Given the description of an element on the screen output the (x, y) to click on. 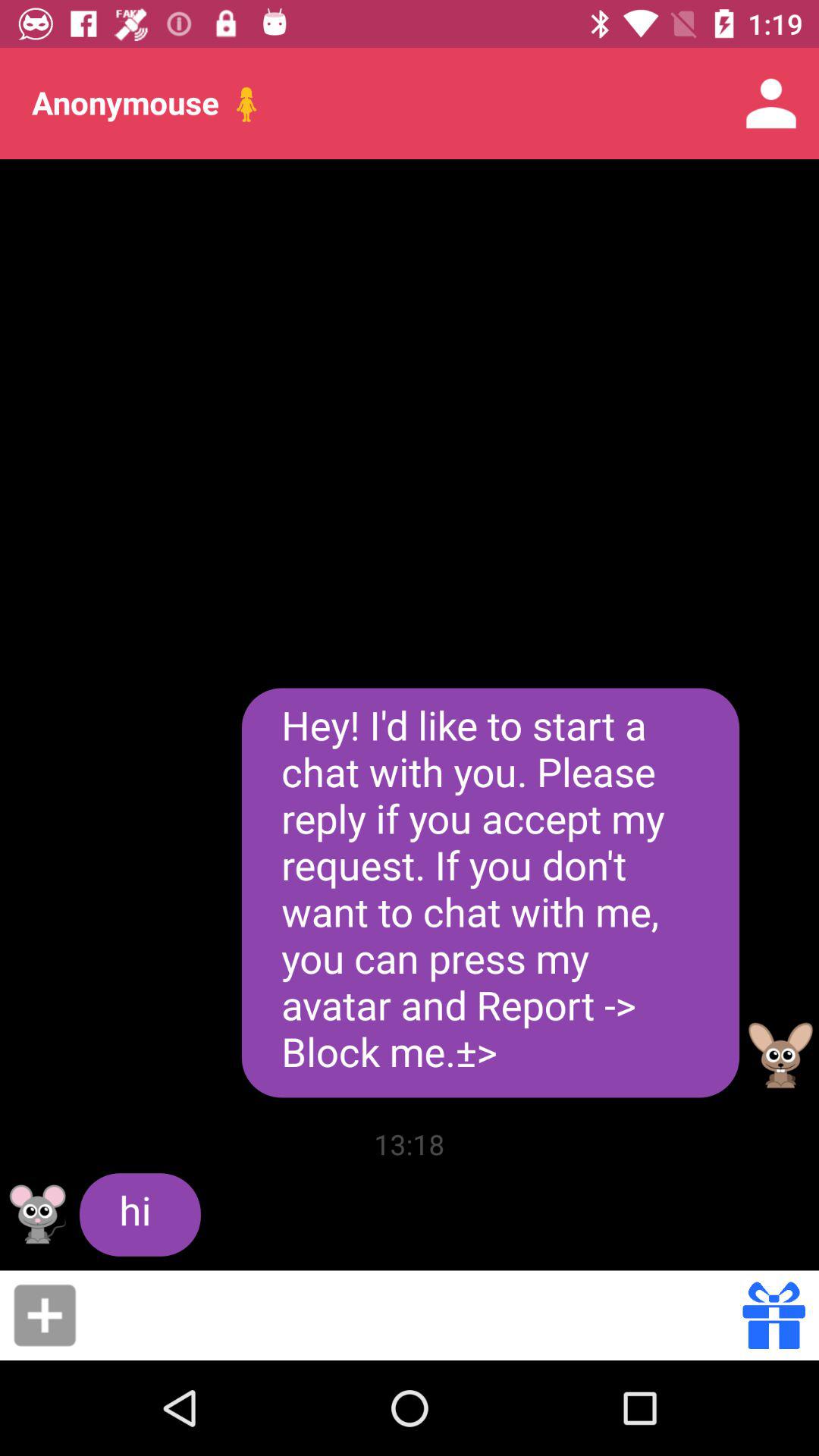
launch hi  icon (139, 1214)
